Given the description of an element on the screen output the (x, y) to click on. 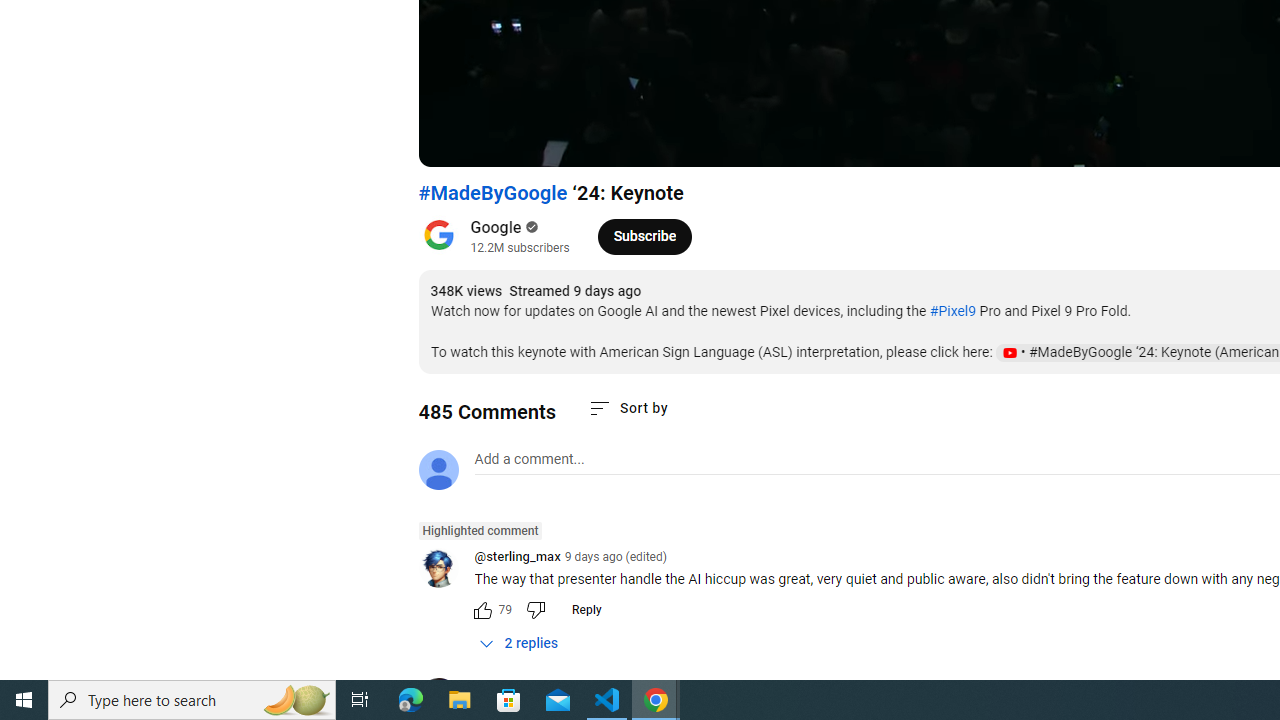
@sterling_max (446, 569)
Reply (586, 609)
Highlighted comment (480, 531)
Dislike this comment (534, 609)
Google (496, 227)
#MadeByGoogle (493, 193)
Subscribe to Google. (644, 236)
@itsbiju (497, 687)
Play (k) (453, 142)
Default profile photo (438, 470)
Mute (m) (548, 142)
@sterling_max (516, 557)
2 replies (518, 643)
9 days ago (edited) (615, 556)
#Pixel9 (952, 311)
